Given the description of an element on the screen output the (x, y) to click on. 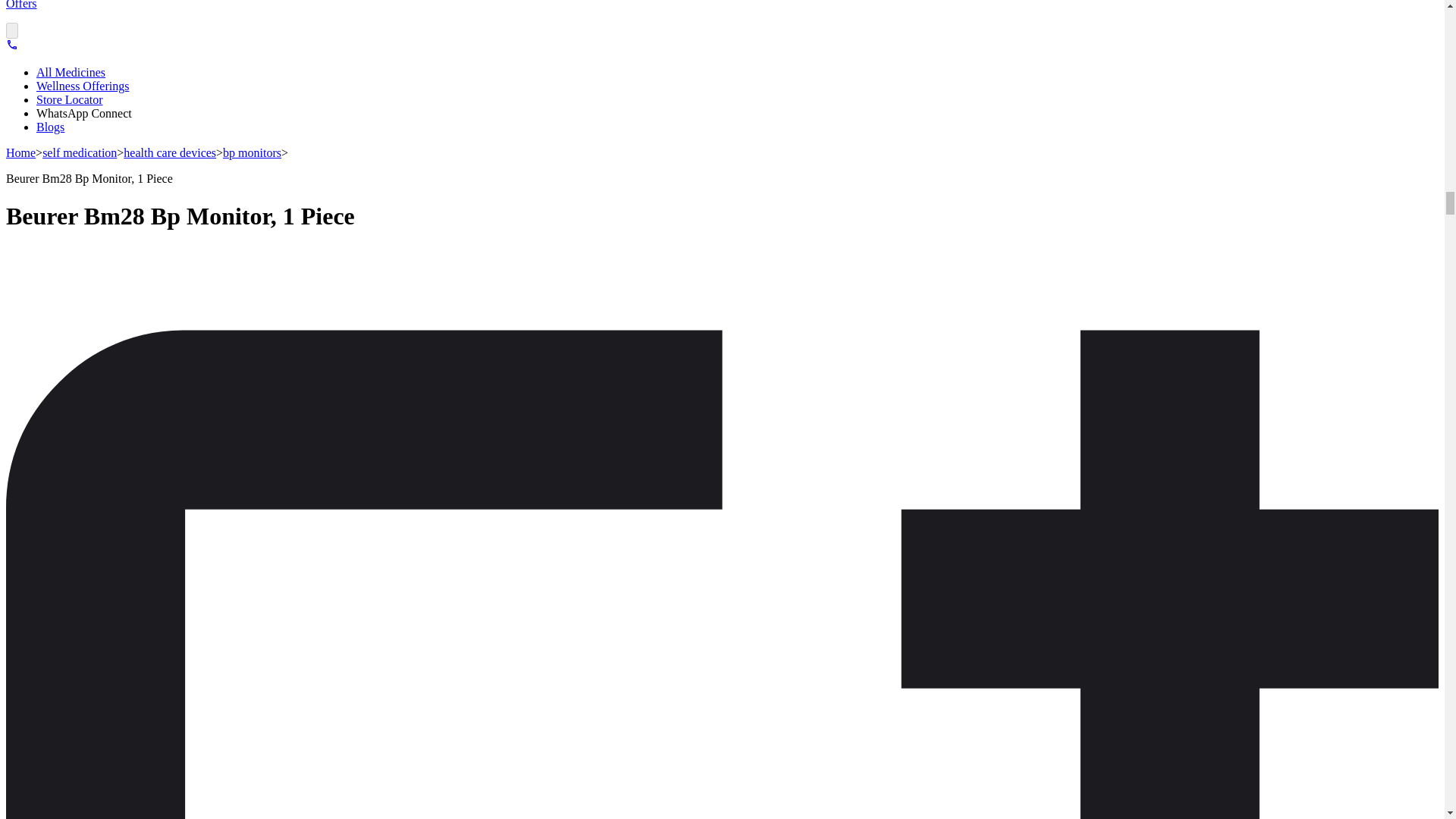
health care devices (169, 152)
self medication (79, 152)
Home (19, 152)
bp monitors (251, 152)
